Given the description of an element on the screen output the (x, y) to click on. 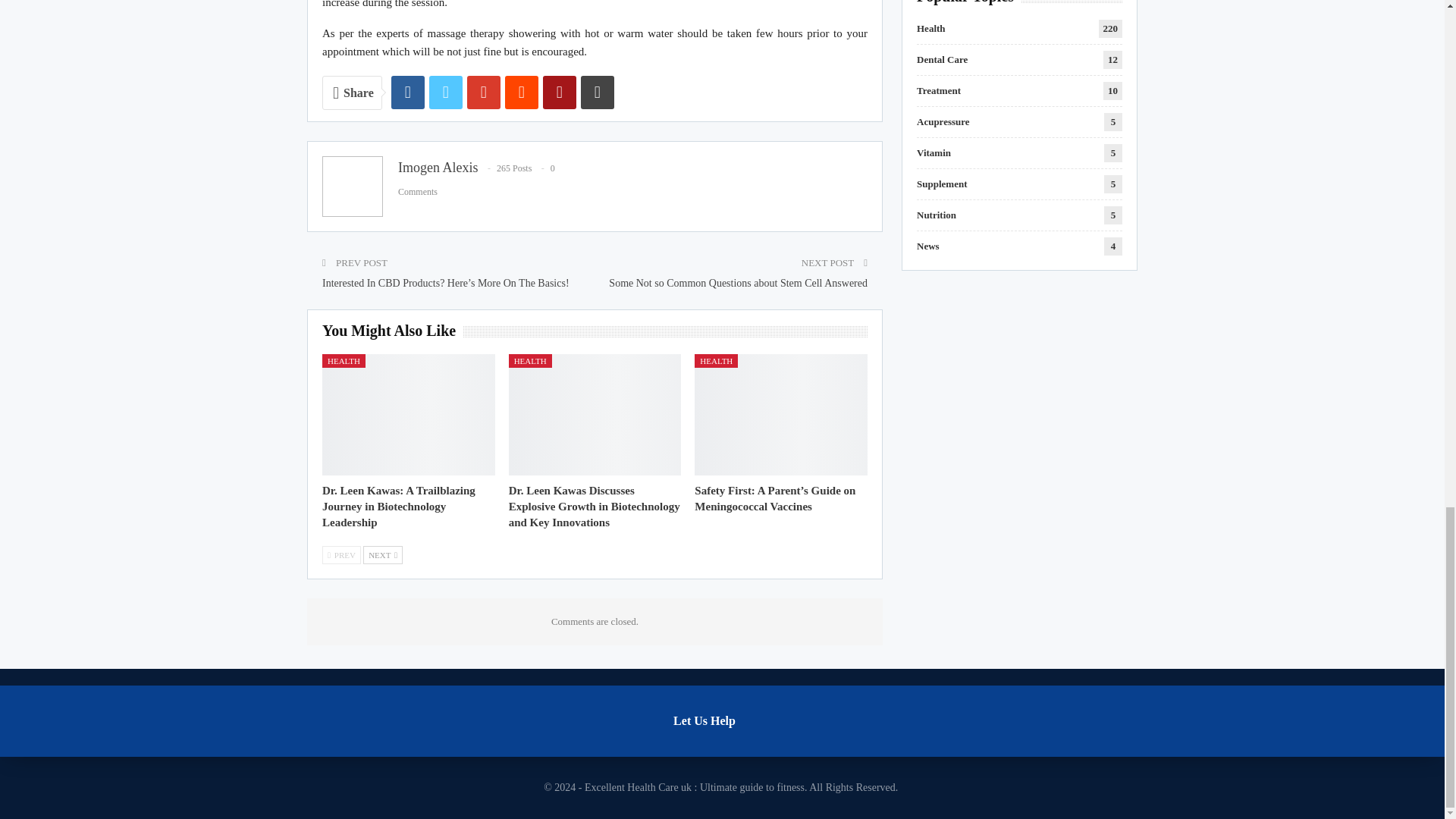
Imogen Alexis (438, 167)
Next (382, 555)
You Might Also Like (392, 331)
HEALTH (343, 360)
Some Not so Common Questions about Stem Cell Answered (737, 283)
Previous (341, 555)
